Given the description of an element on the screen output the (x, y) to click on. 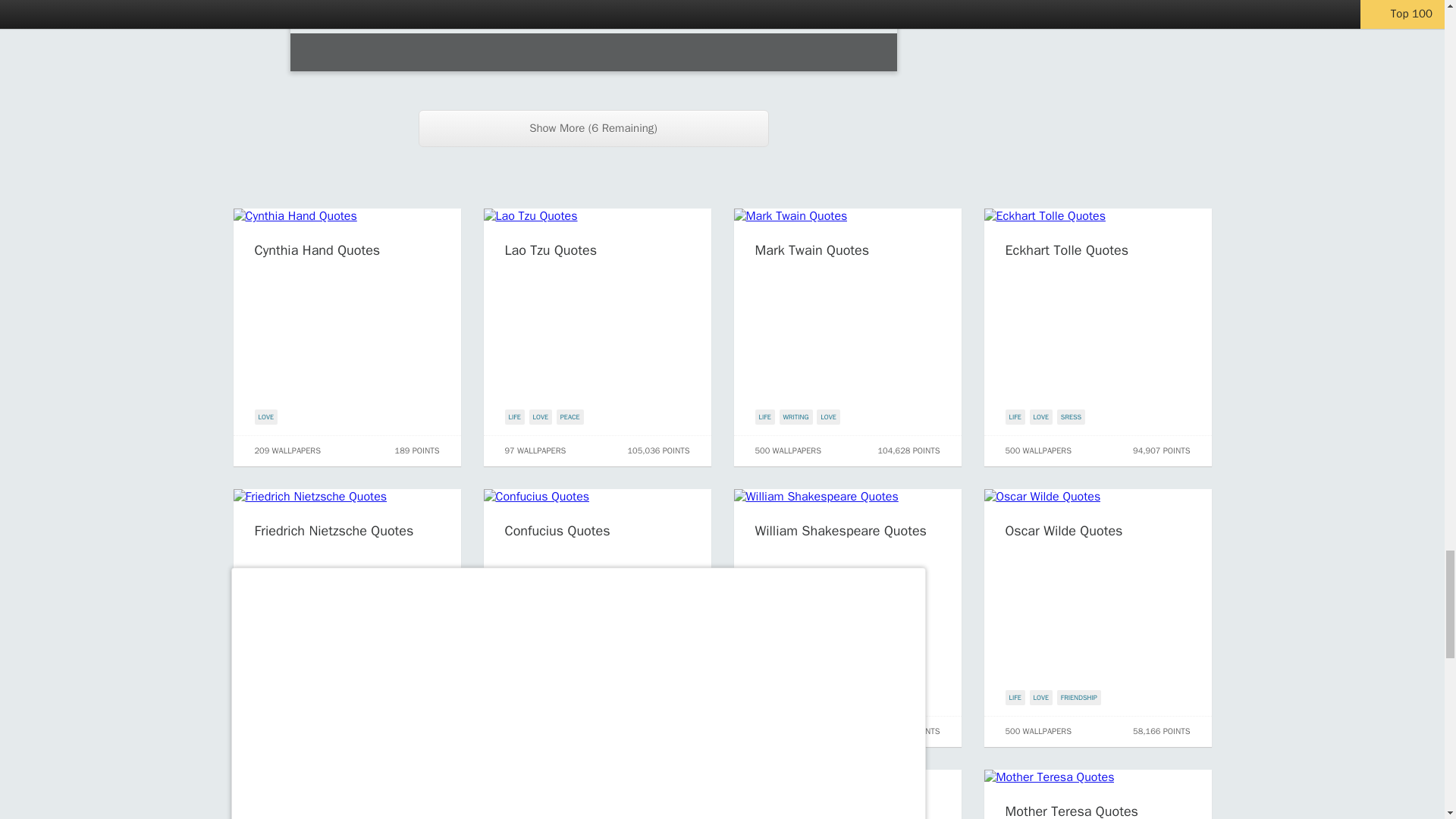
Cynthia Hand Quotes (317, 249)
MUSIC (319, 697)
Lao Tzu Quotes (550, 249)
PEACE (569, 417)
LIFE (264, 697)
Mark Twain Quotes (812, 249)
LOVE (1040, 417)
Confucius Quotes (557, 530)
LOVE (266, 417)
LOVE (541, 417)
LOVE (290, 697)
Friedrich Nietzsche Quotes (333, 530)
LOVE (828, 417)
LIFE (1015, 417)
Eckhart Tolle Quotes (1067, 249)
